Given the description of an element on the screen output the (x, y) to click on. 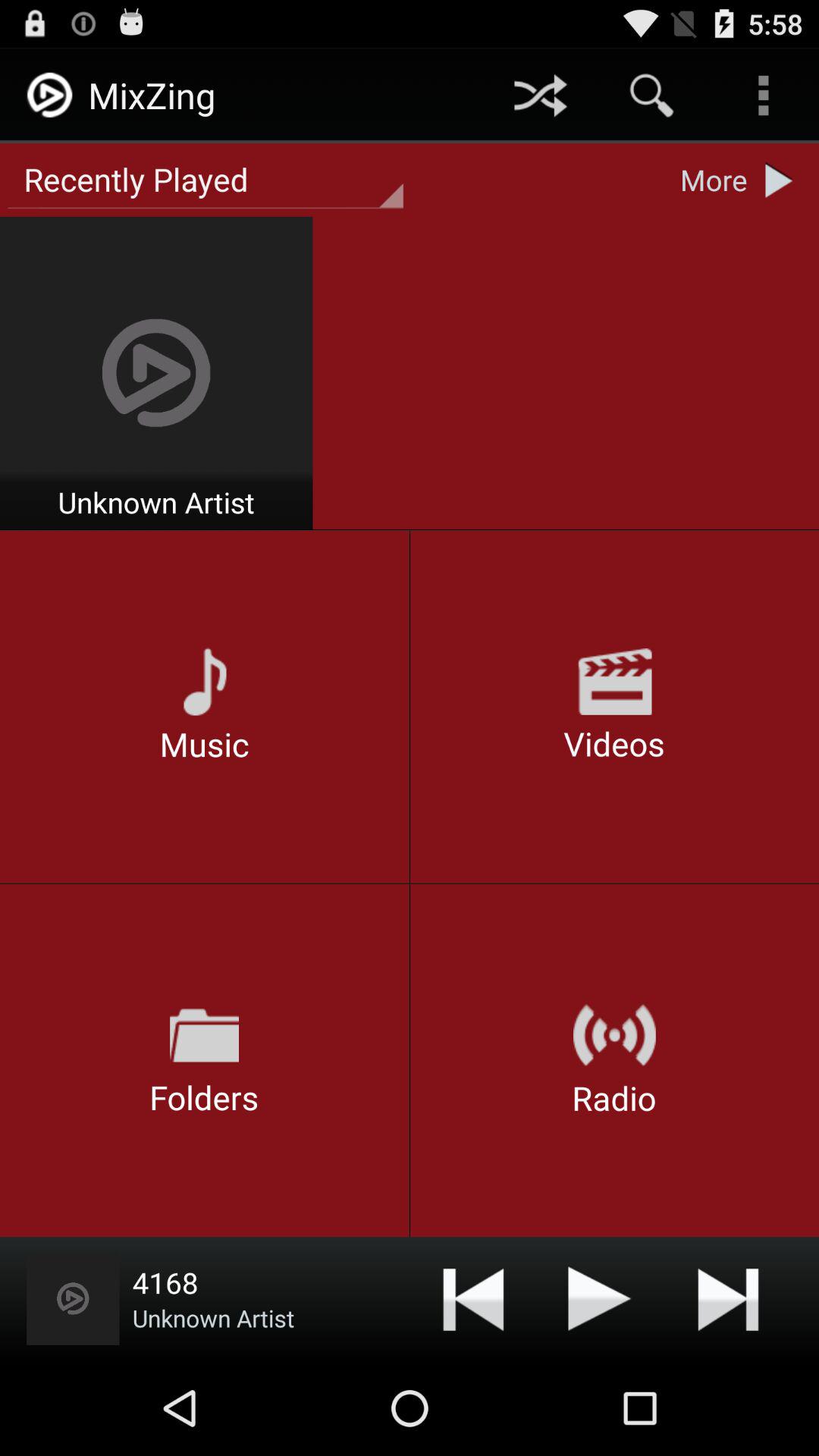
next button (728, 1298)
